Given the description of an element on the screen output the (x, y) to click on. 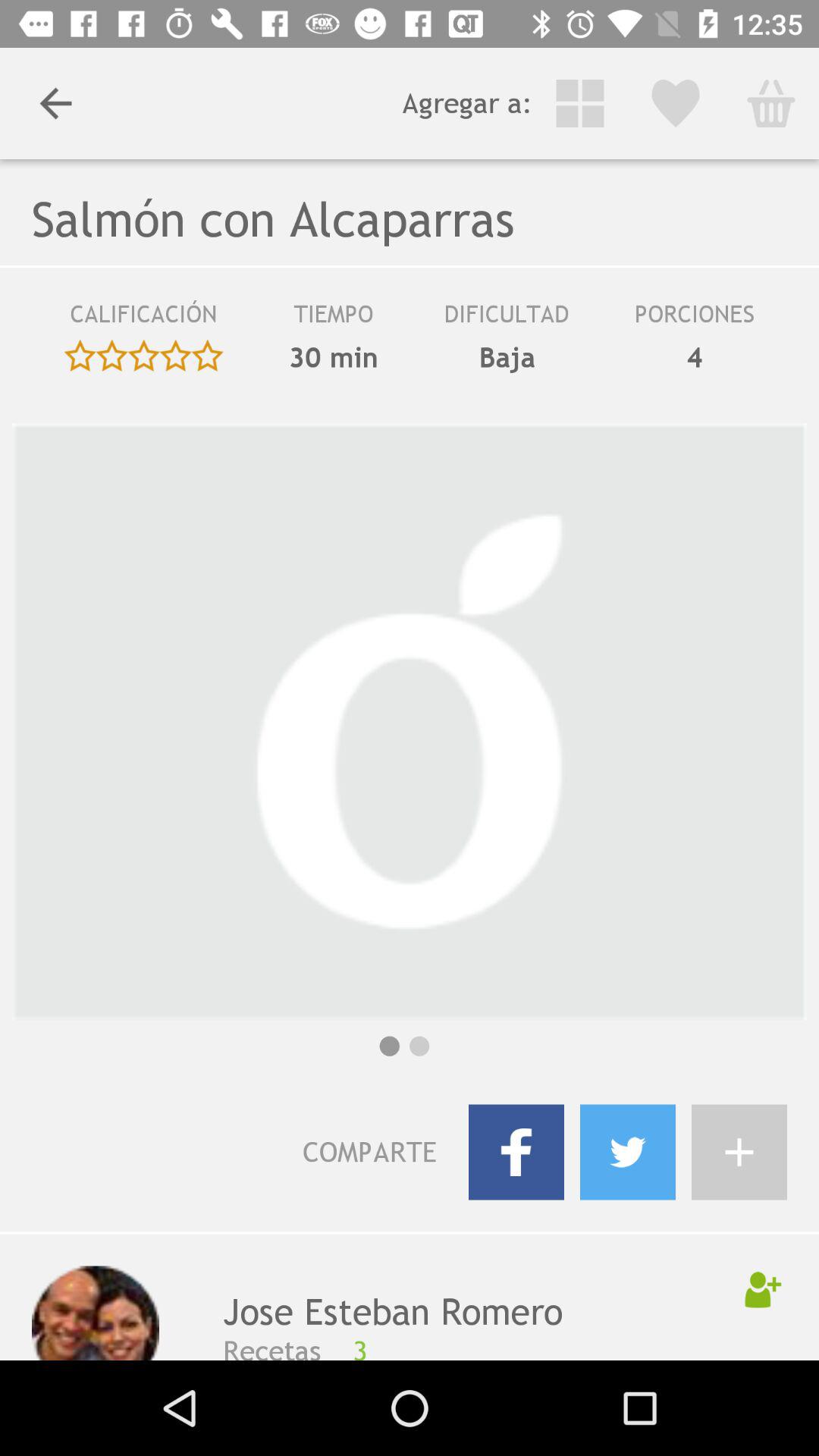
choose item to the left of the porciones icon (506, 319)
